Given the description of an element on the screen output the (x, y) to click on. 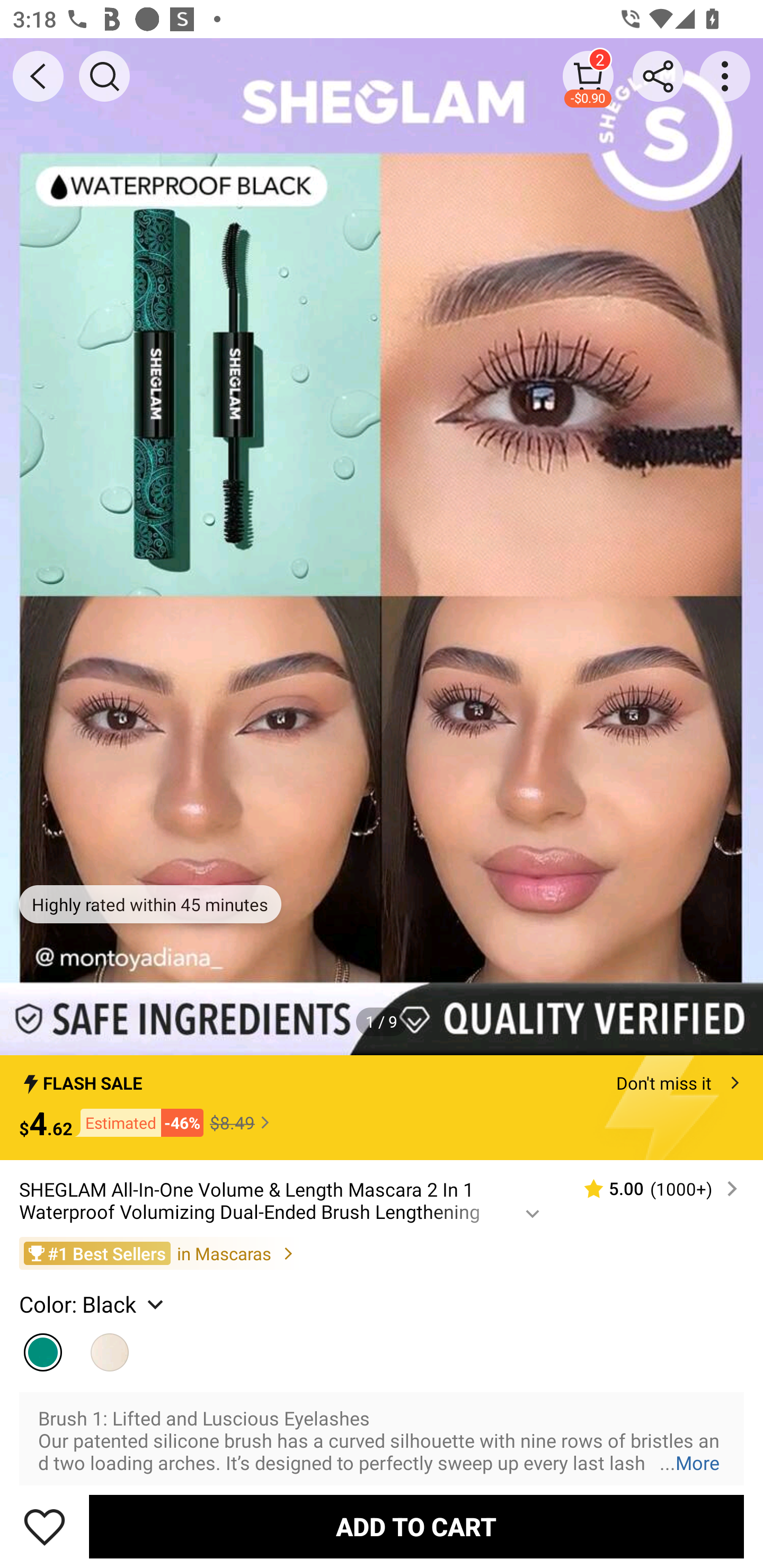
BACK (38, 75)
2 -$0.90 (588, 75)
1 / 9 (381, 1021)
FLASH SALE Don't miss it (381, 1077)
Estimated -46% (137, 1122)
$8.49 (241, 1121)
5.00 (1000‎+) (653, 1188)
#1 Best Sellers in Mascaras (381, 1253)
Color: Black (93, 1303)
Black (42, 1347)
Black (109, 1347)
ADD TO CART (416, 1526)
Save (44, 1526)
